Given the description of an element on the screen output the (x, y) to click on. 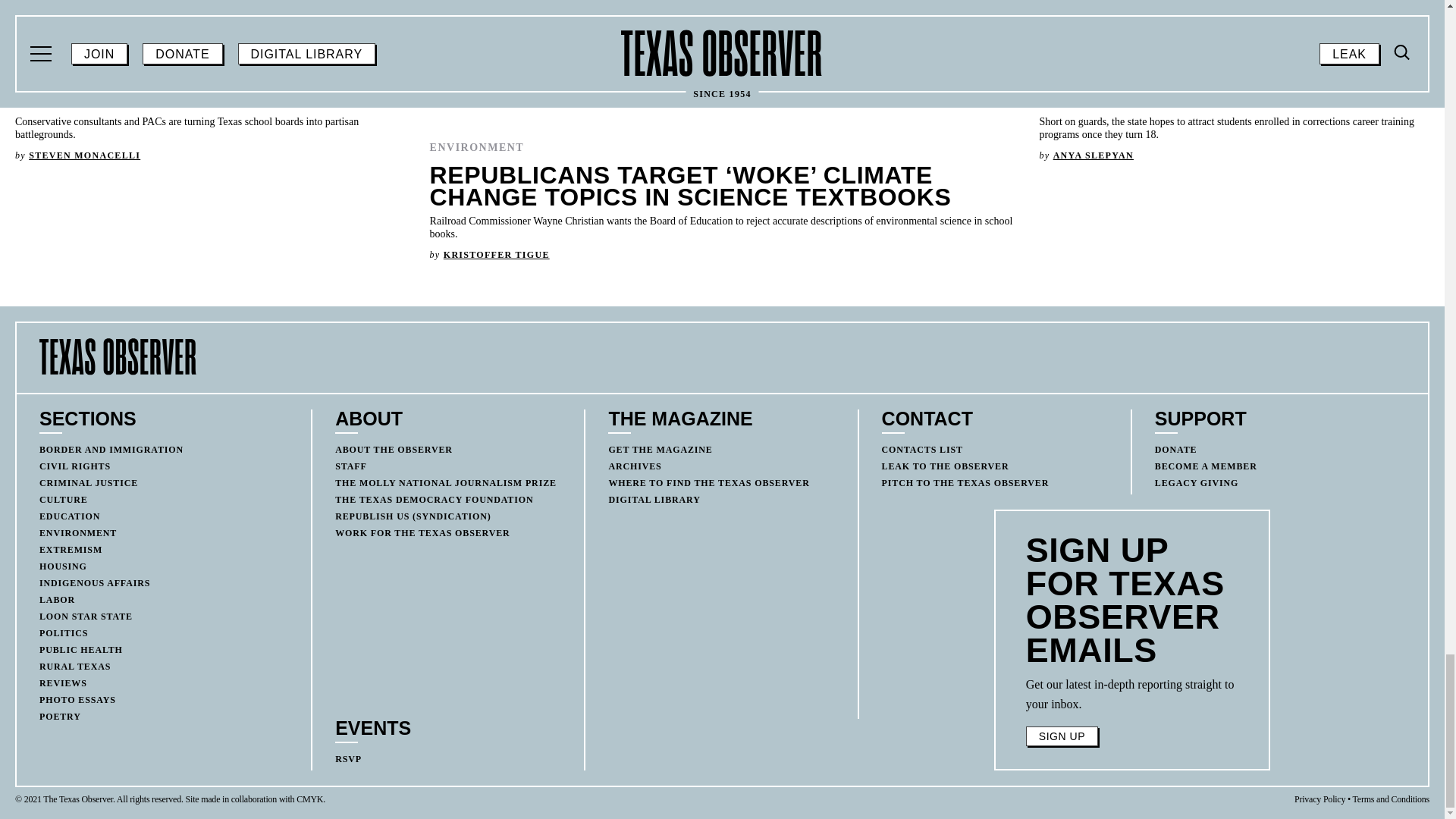
Page 6 (1132, 694)
Post by Steven Monacelli (84, 154)
Post by Anya Slepyan (1093, 154)
Post by Kristoffer Tigue (497, 254)
